Given the description of an element on the screen output the (x, y) to click on. 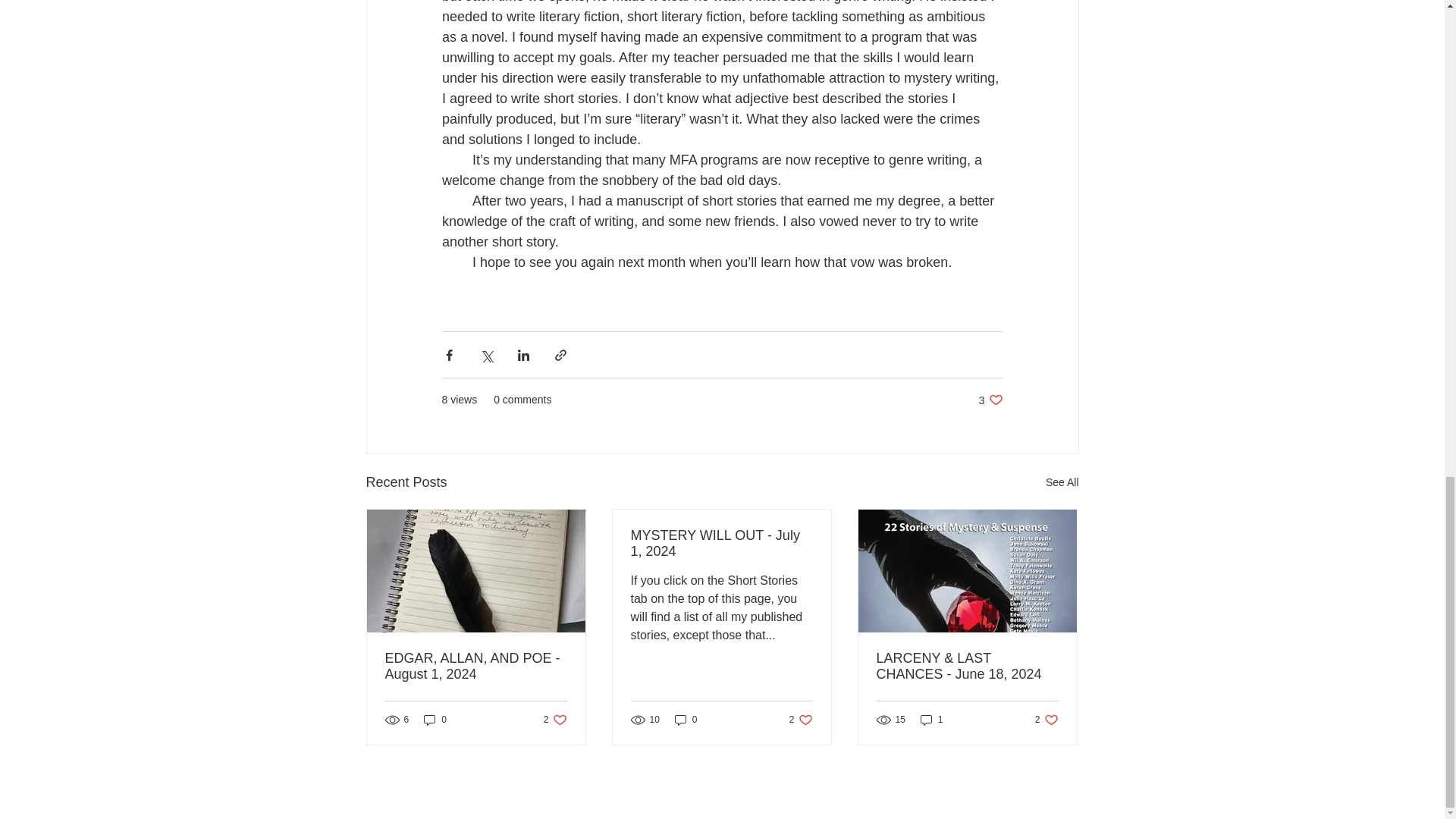
0 (685, 719)
See All (1046, 719)
EDGAR, ALLAN, AND POE - August 1, 2024 (1061, 482)
0 (555, 719)
MYSTERY WILL OUT - July 1, 2024 (476, 666)
1 (435, 719)
